Given the description of an element on the screen output the (x, y) to click on. 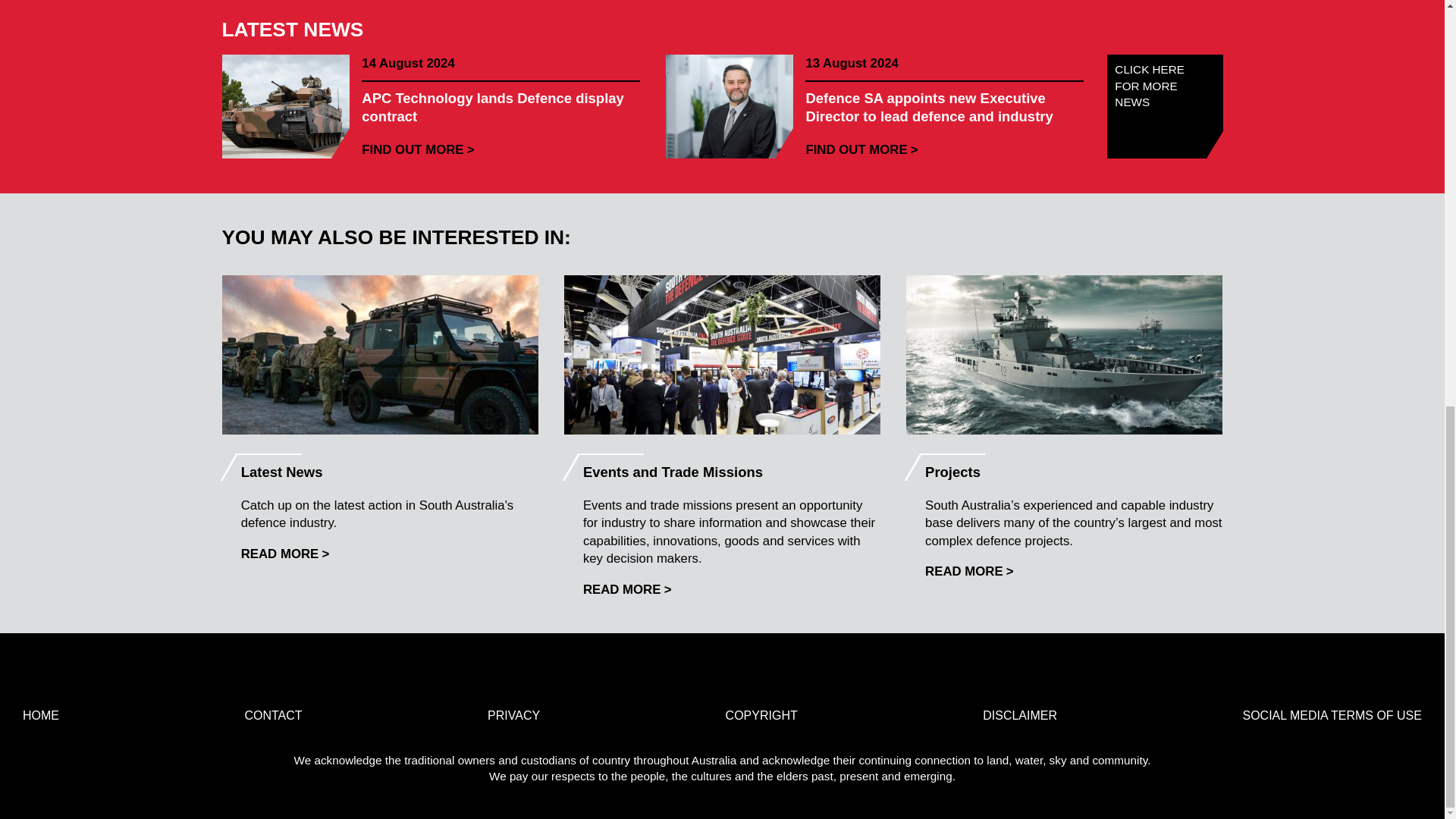
View: Latest News (285, 554)
View: Projects (968, 571)
View: Events and Trade Missions (627, 589)
